Given the description of an element on the screen output the (x, y) to click on. 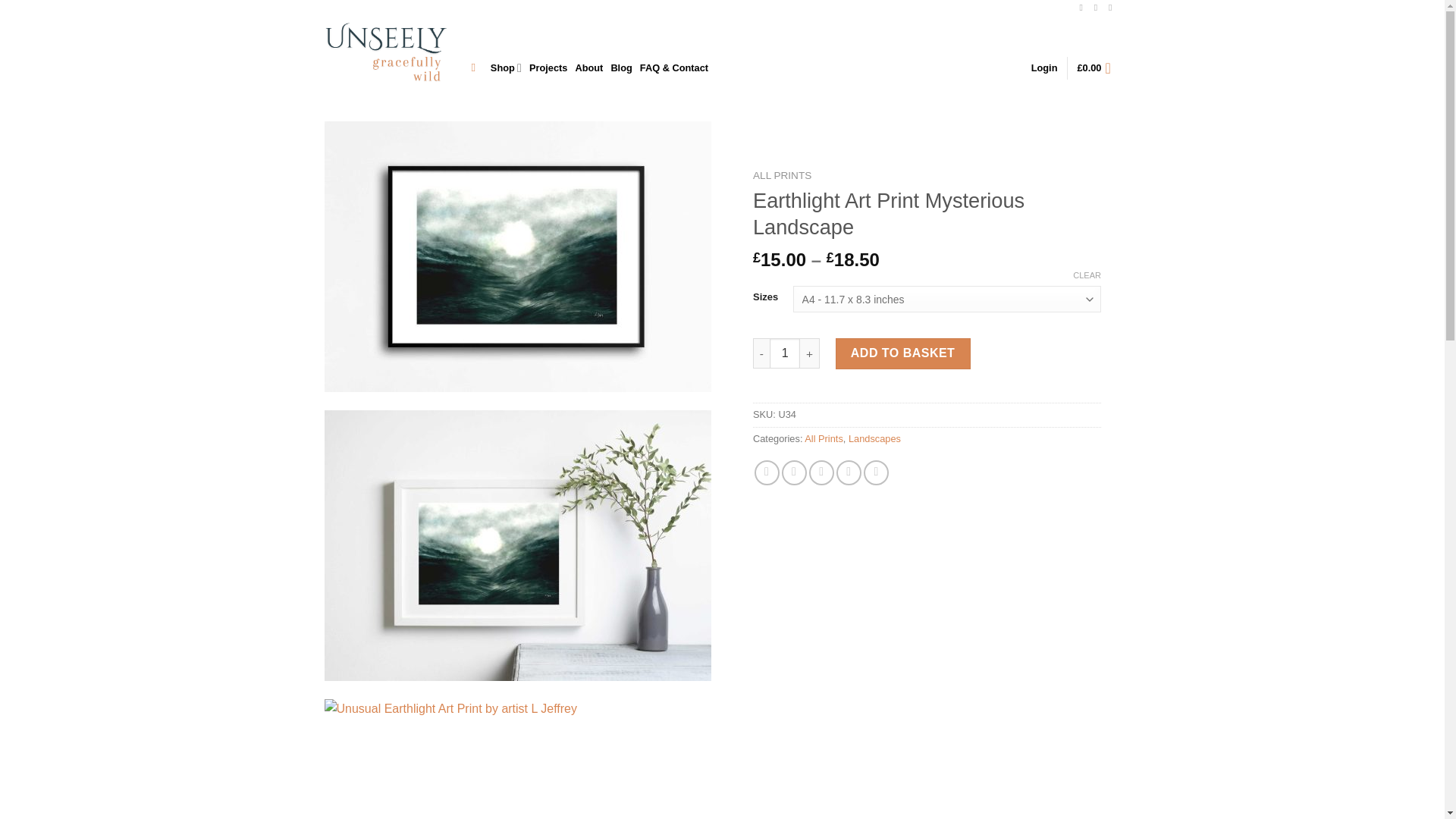
Pin on Pinterest (848, 472)
Share on Twitter (793, 472)
Share on LinkedIn (875, 472)
CLEAR (1086, 275)
All Prints (824, 438)
Email to a Friend (821, 472)
ADD TO BASKET (903, 353)
Landscapes (874, 438)
ALL PRINTS (781, 174)
Unseely - Affordable Art Prints by artist, Louise Jeffrey (386, 52)
